Given the description of an element on the screen output the (x, y) to click on. 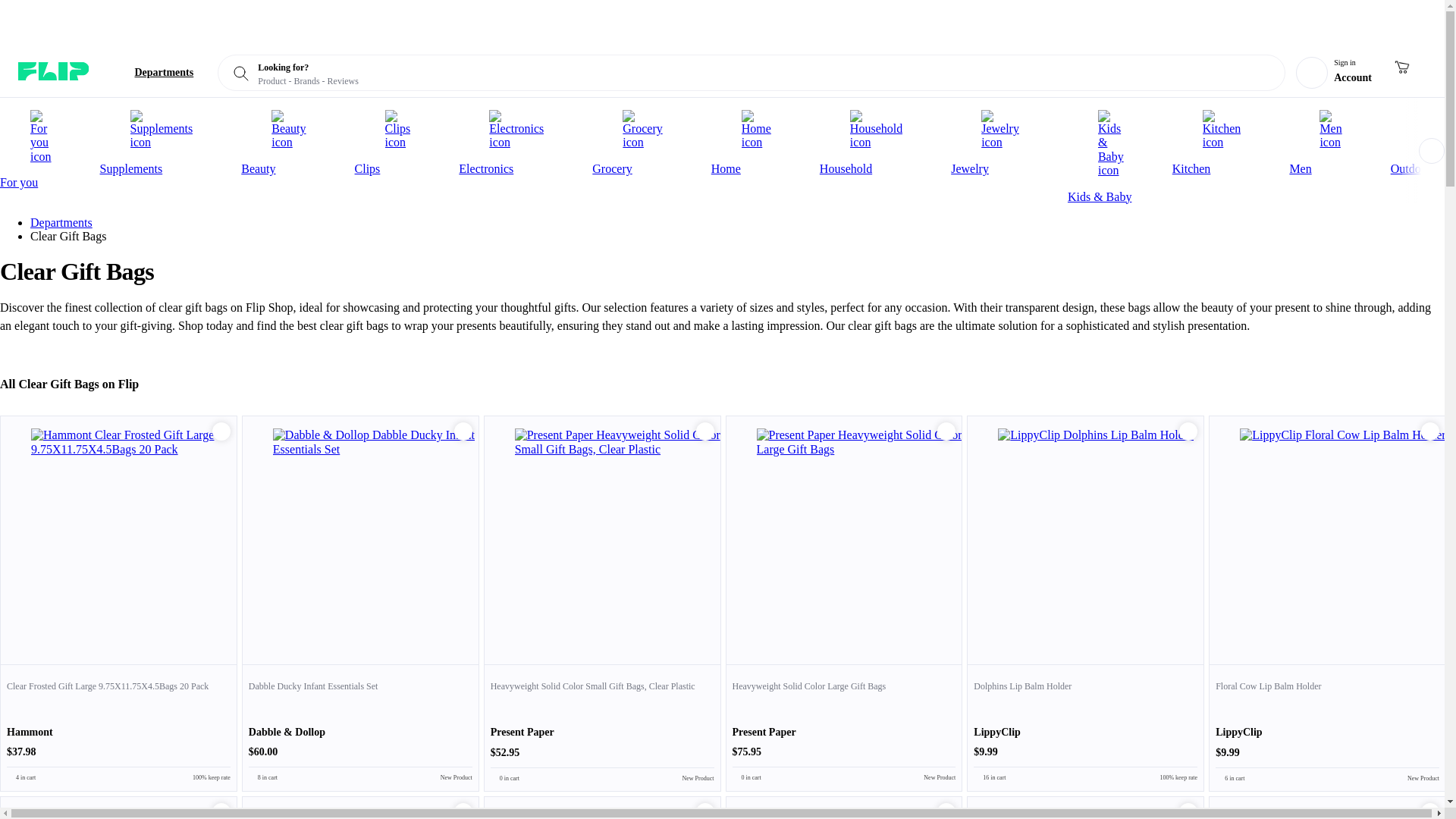
Add to Cart (704, 431)
For you (40, 149)
Clips (398, 142)
Supplements (162, 142)
Dabble Ducky Infant Essentials Set (361, 726)
Home (756, 142)
Departments (152, 72)
Heavyweight Solid Color Small Gift Bags, Clear Plastic (602, 726)
Add to Cart (221, 431)
